Given the description of an element on the screen output the (x, y) to click on. 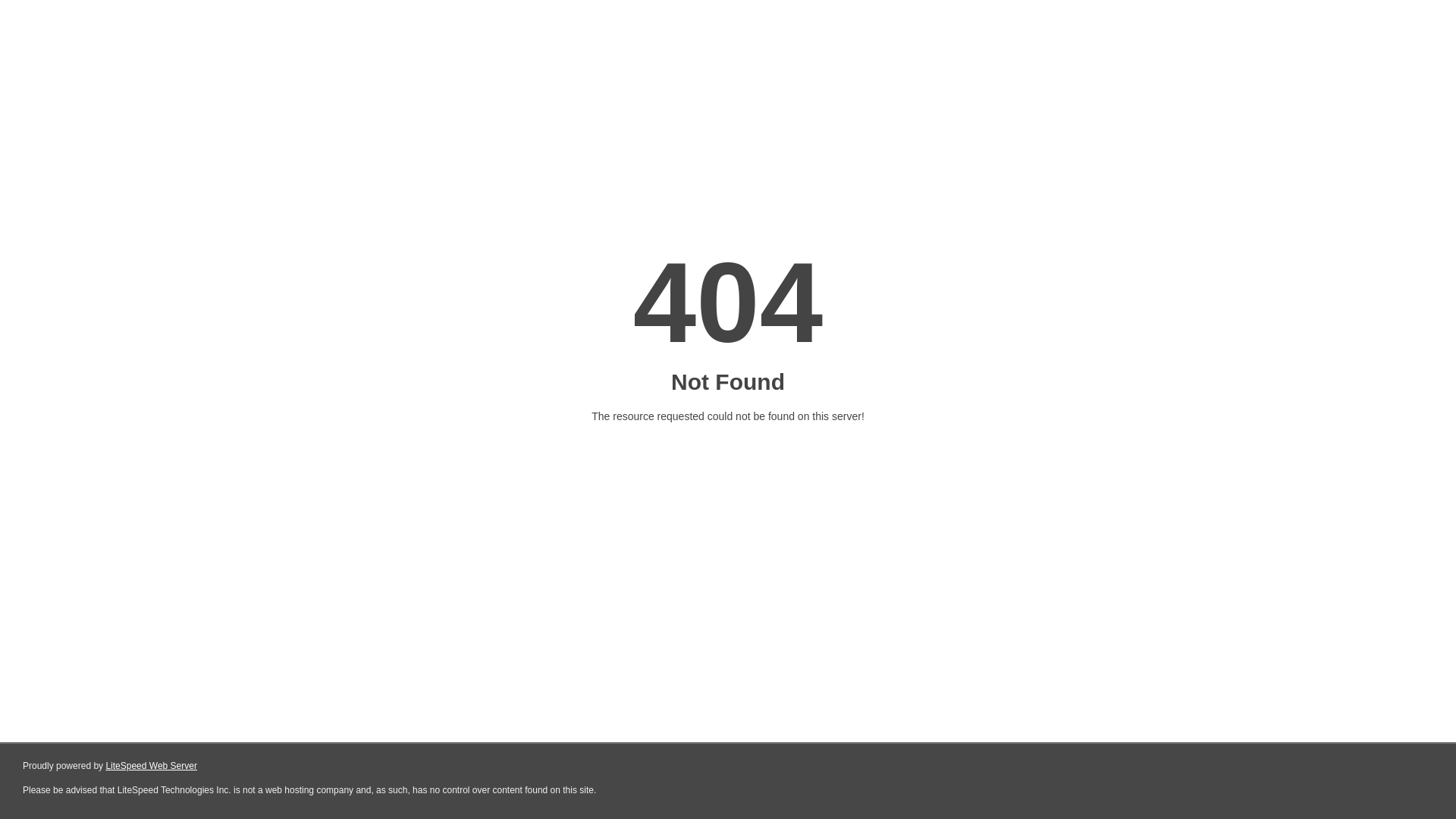
LiteSpeed Web Server Element type: text (151, 765)
